Given the description of an element on the screen output the (x, y) to click on. 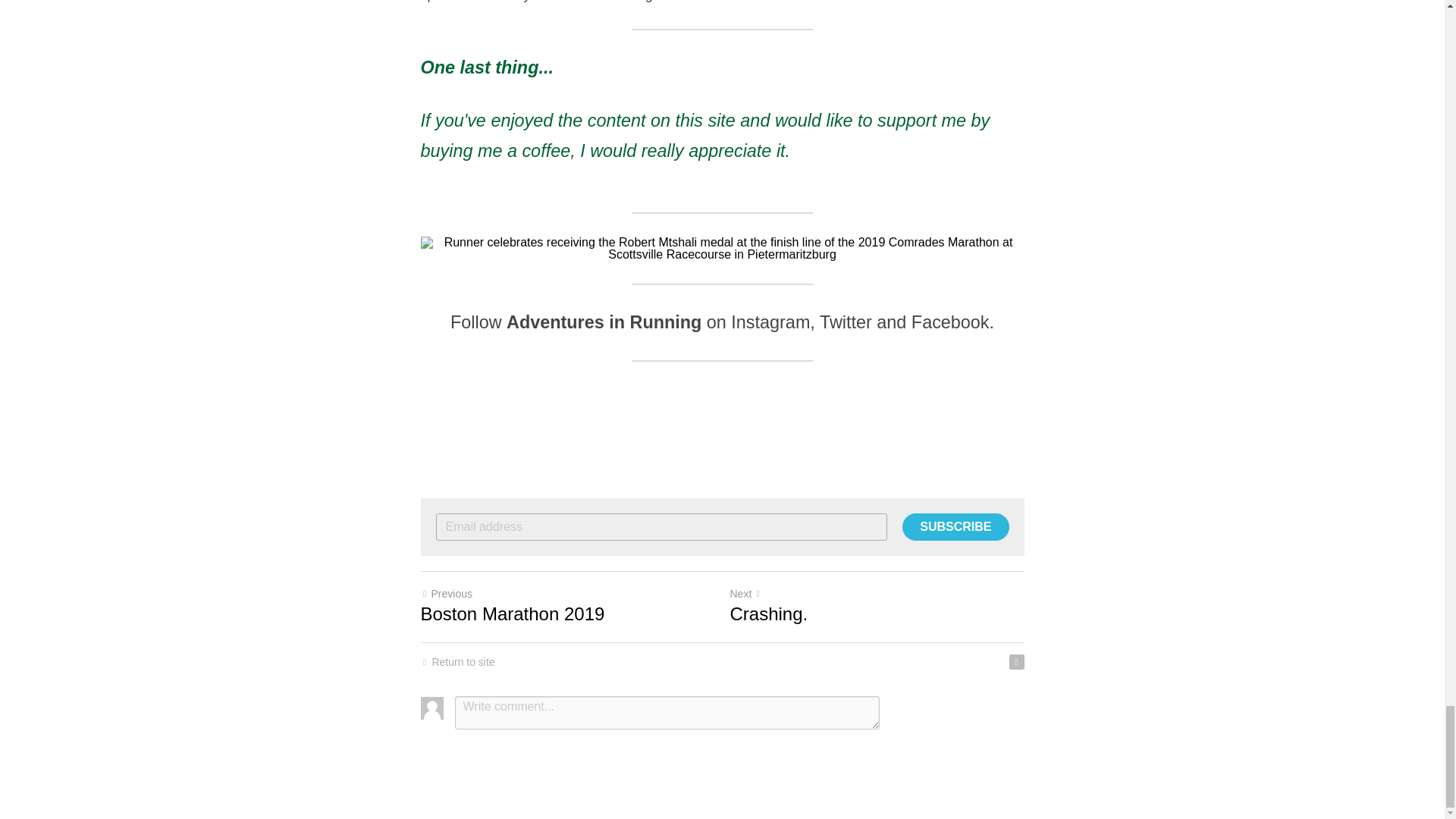
Next (745, 593)
Boston Marathon 2019 (512, 613)
Crashing. (768, 613)
 Return to site (457, 662)
Previous (445, 593)
